Given the description of an element on the screen output the (x, y) to click on. 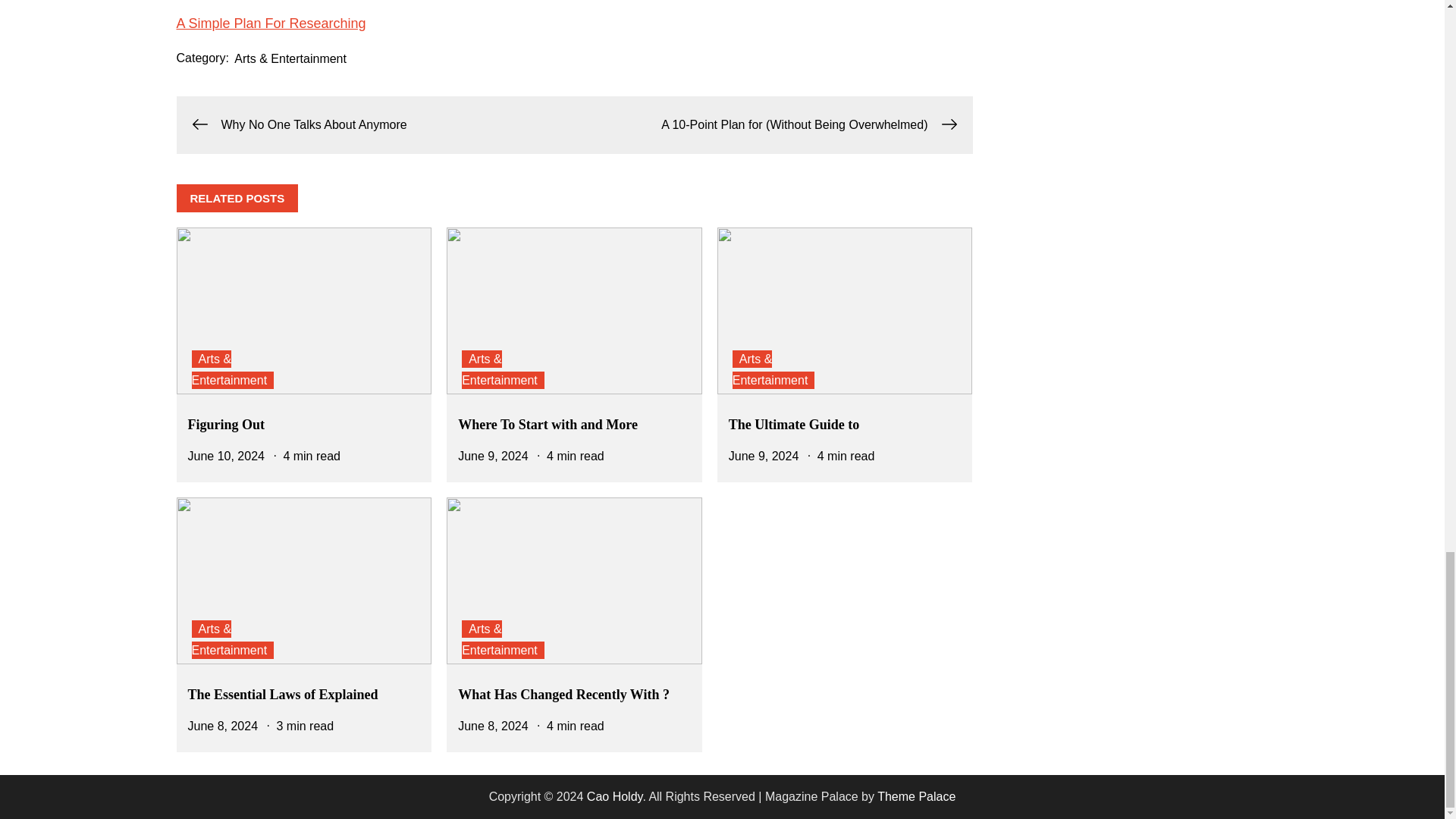
The Essential Laws of Explained (282, 694)
A Simple Plan For Researching (270, 23)
June 8, 2024 (493, 725)
The Ultimate Guide to (794, 424)
June 10, 2024 (225, 455)
June 9, 2024 (493, 455)
Where To Start with and More (547, 424)
Figuring Out (225, 424)
June 9, 2024 (764, 455)
June 8, 2024 (223, 725)
What Has Changed Recently With ? (563, 694)
